Given the description of an element on the screen output the (x, y) to click on. 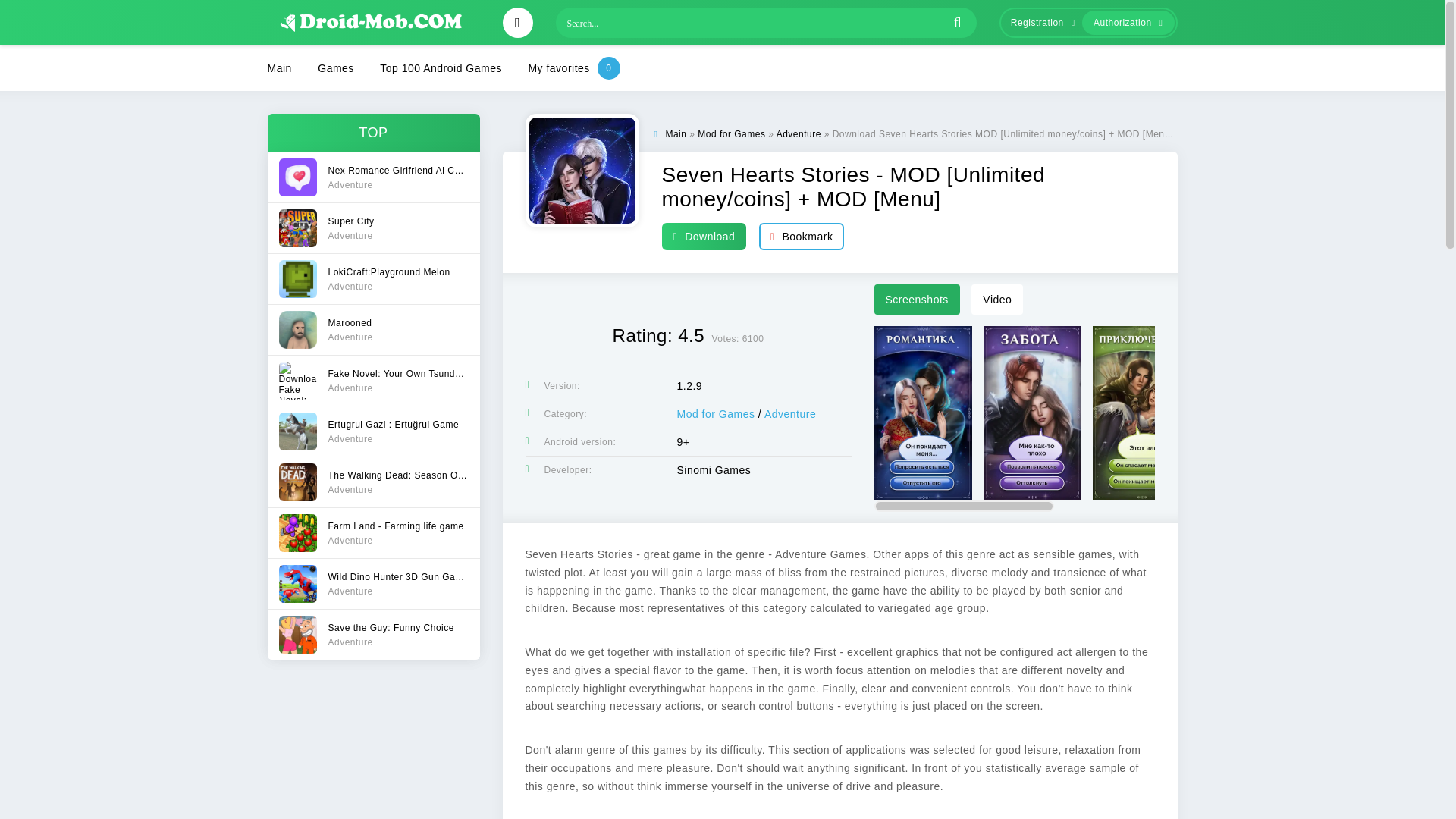
Adventure (798, 133)
Mod for Games (715, 413)
Mod for Games (372, 379)
Registration (372, 227)
